Given the description of an element on the screen output the (x, y) to click on. 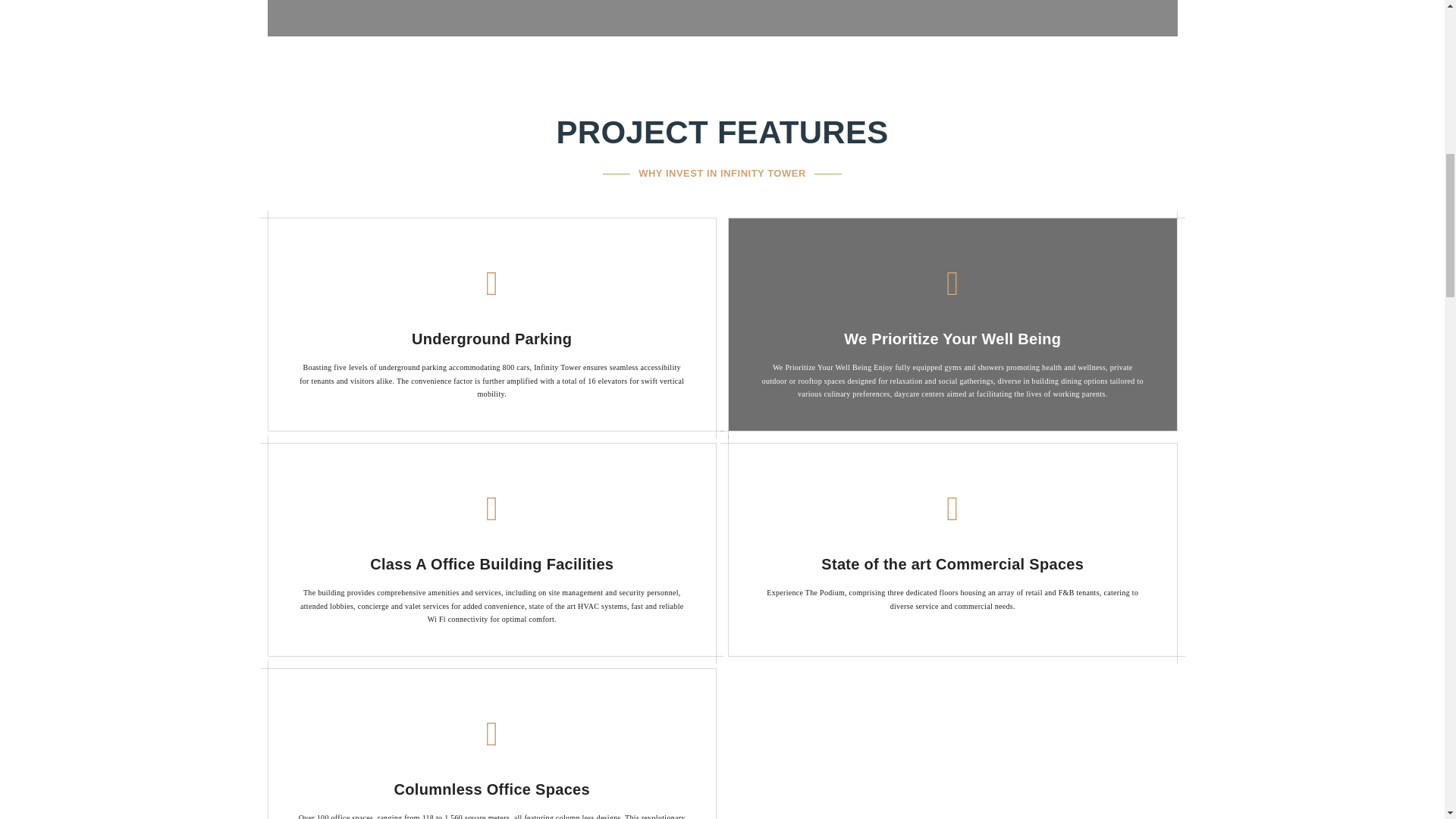
We Prioritize Your Well Being (952, 338)
Underground Parking (492, 338)
State of the art Commercial Spaces (952, 564)
Columnless Office Spaces (491, 789)
Class A Office Building Facilities (490, 564)
